Given the description of an element on the screen output the (x, y) to click on. 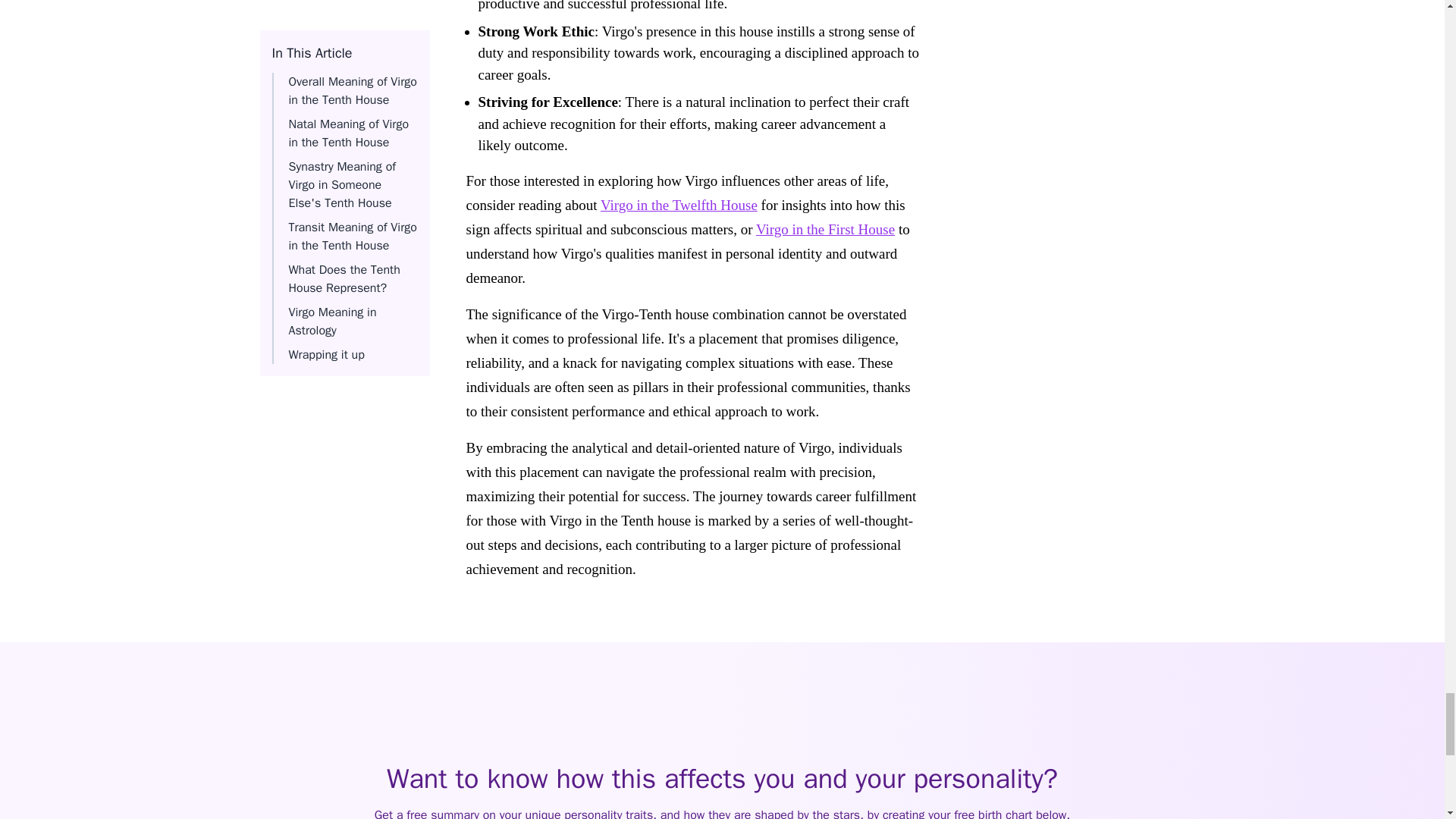
Virgo in the Twelfth House (678, 204)
